Given the description of an element on the screen output the (x, y) to click on. 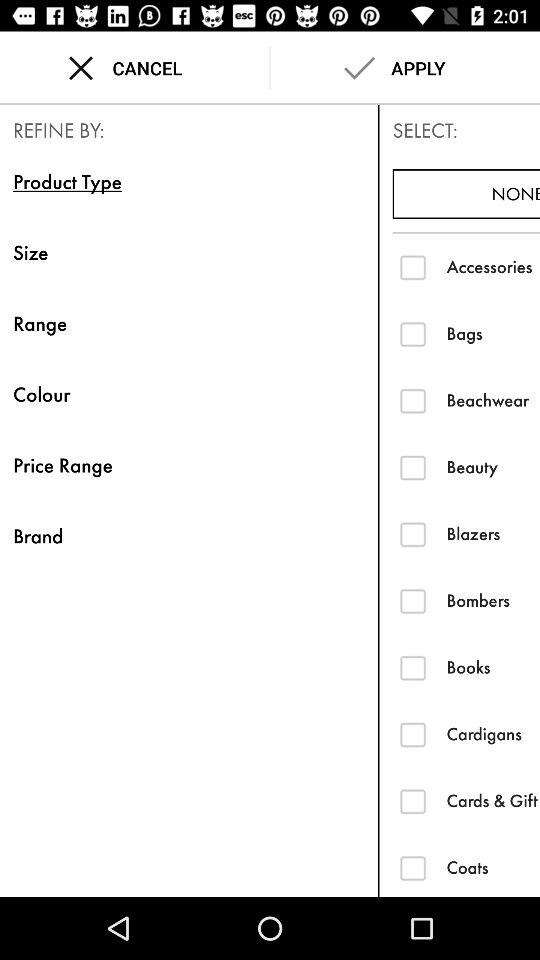
select item (412, 266)
